Given the description of an element on the screen output the (x, y) to click on. 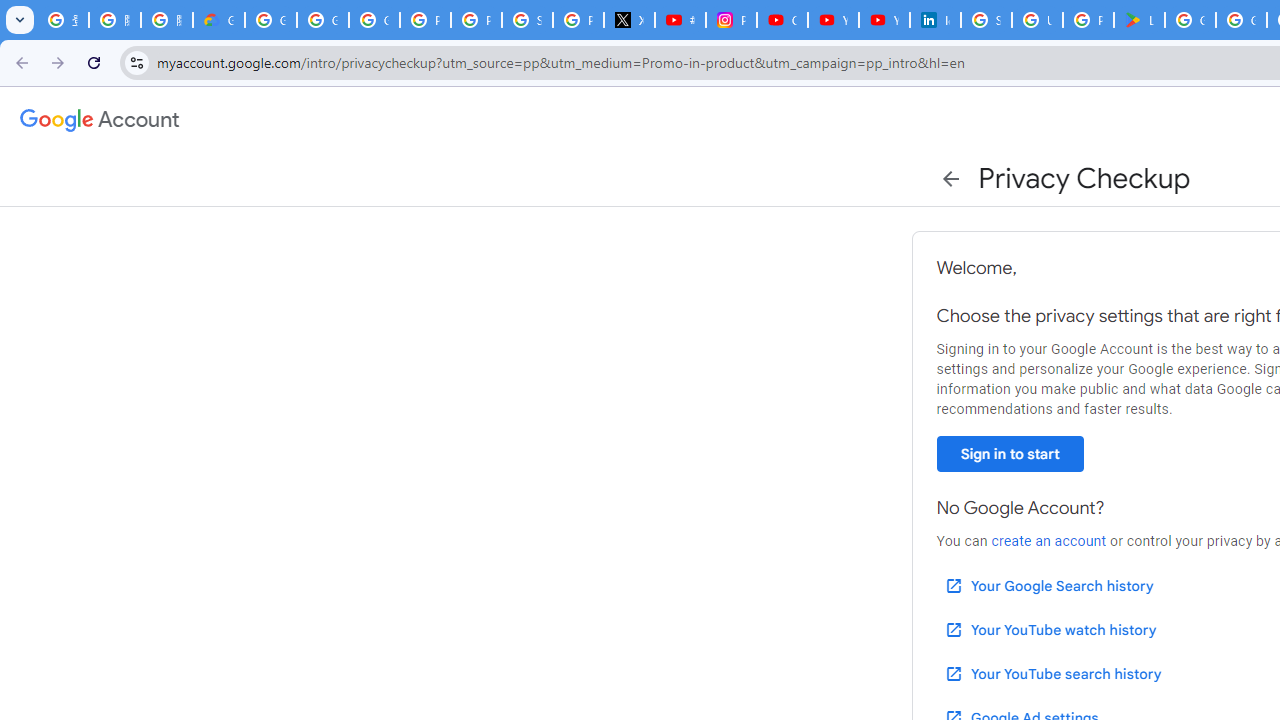
Sign in - Google Accounts (526, 20)
Sign in - Google Accounts (986, 20)
Privacy Help Center - Policies Help (475, 20)
Last Shelter: Survival - Apps on Google Play (1138, 20)
Your YouTube search history (1052, 673)
YouTube Culture & Trends - YouTube Top 10, 2021 (884, 20)
